Given the description of an element on the screen output the (x, y) to click on. 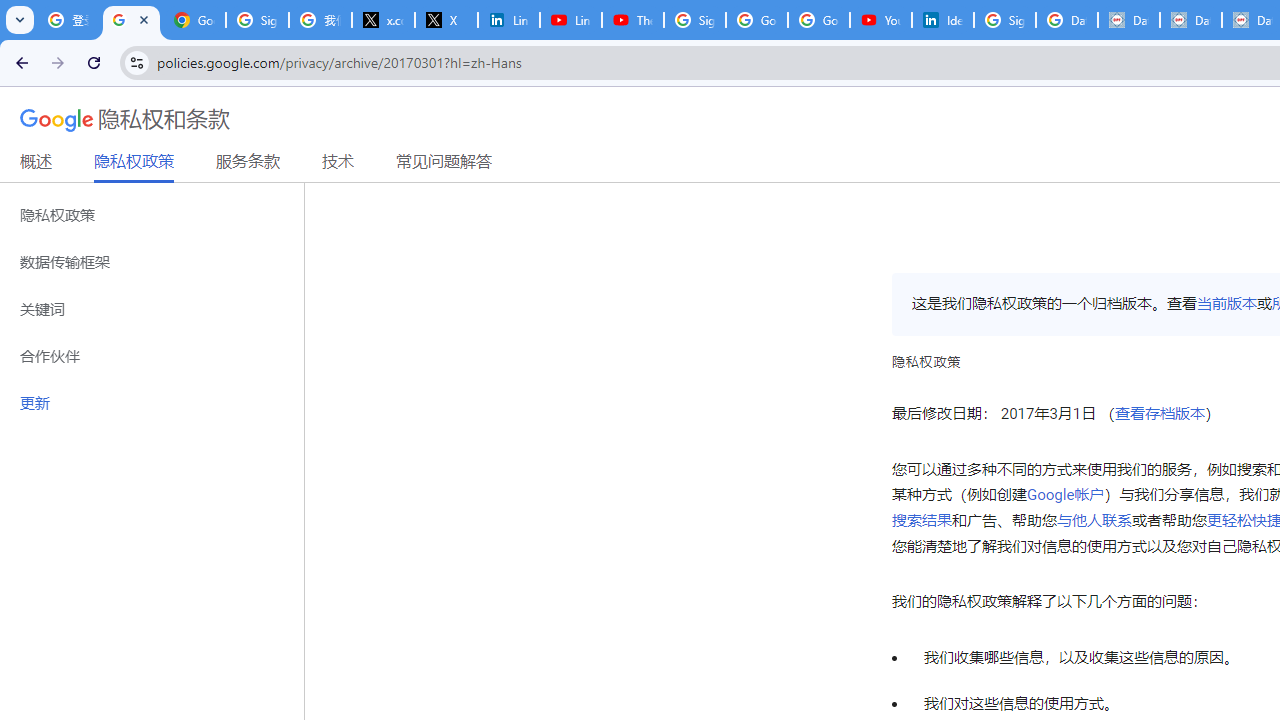
Sign in - Google Accounts (257, 20)
Data Privacy Framework (1190, 20)
LinkedIn - YouTube (570, 20)
Sign in - Google Accounts (694, 20)
